Given the description of an element on the screen output the (x, y) to click on. 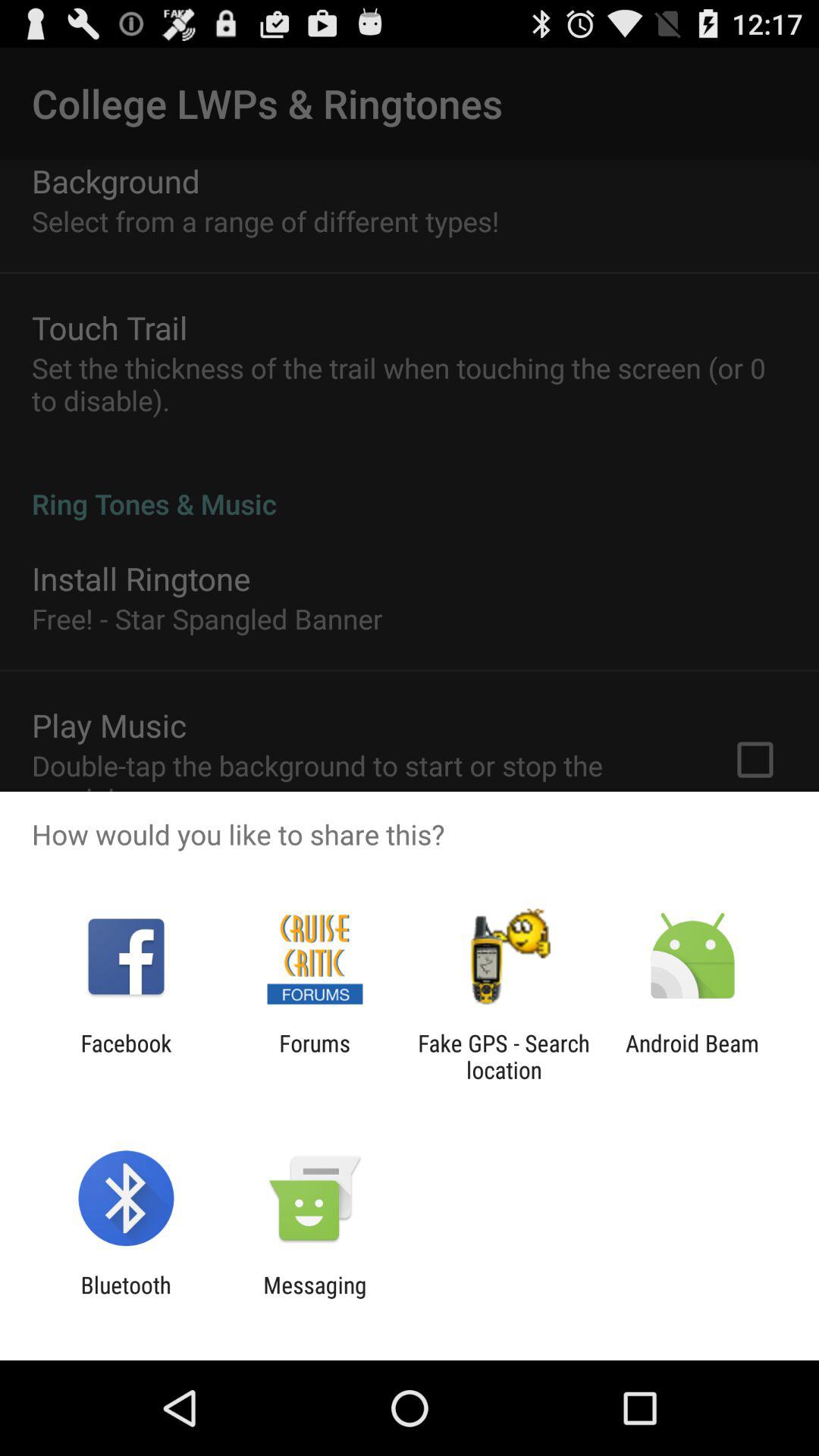
scroll to fake gps search item (503, 1056)
